Given the description of an element on the screen output the (x, y) to click on. 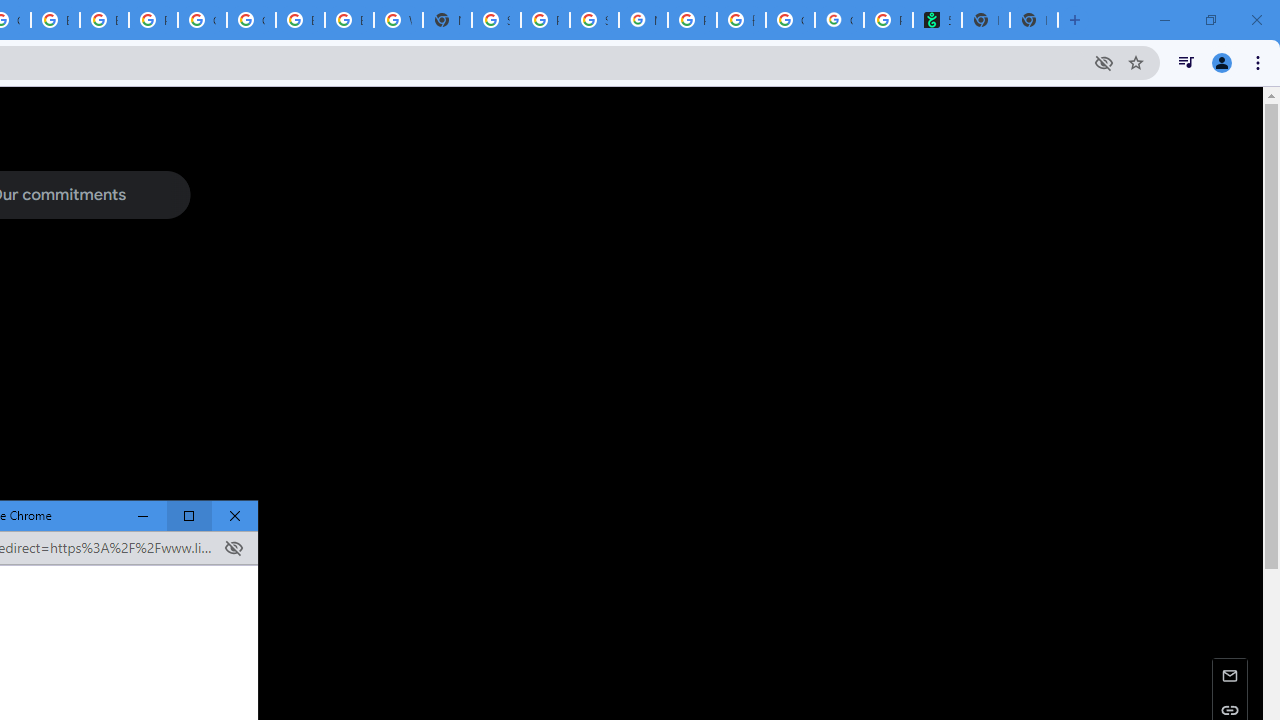
Browse Chrome as a guest - Computer - Google Chrome Help (300, 20)
Sign in - Google Accounts (496, 20)
Google Cloud Platform (251, 20)
Maximize (189, 516)
Third-party cookies blocked (233, 547)
Browse Chrome as a guest - Computer - Google Chrome Help (349, 20)
New Tab (1033, 20)
Share this page (Email) (1230, 674)
